Given the description of an element on the screen output the (x, y) to click on. 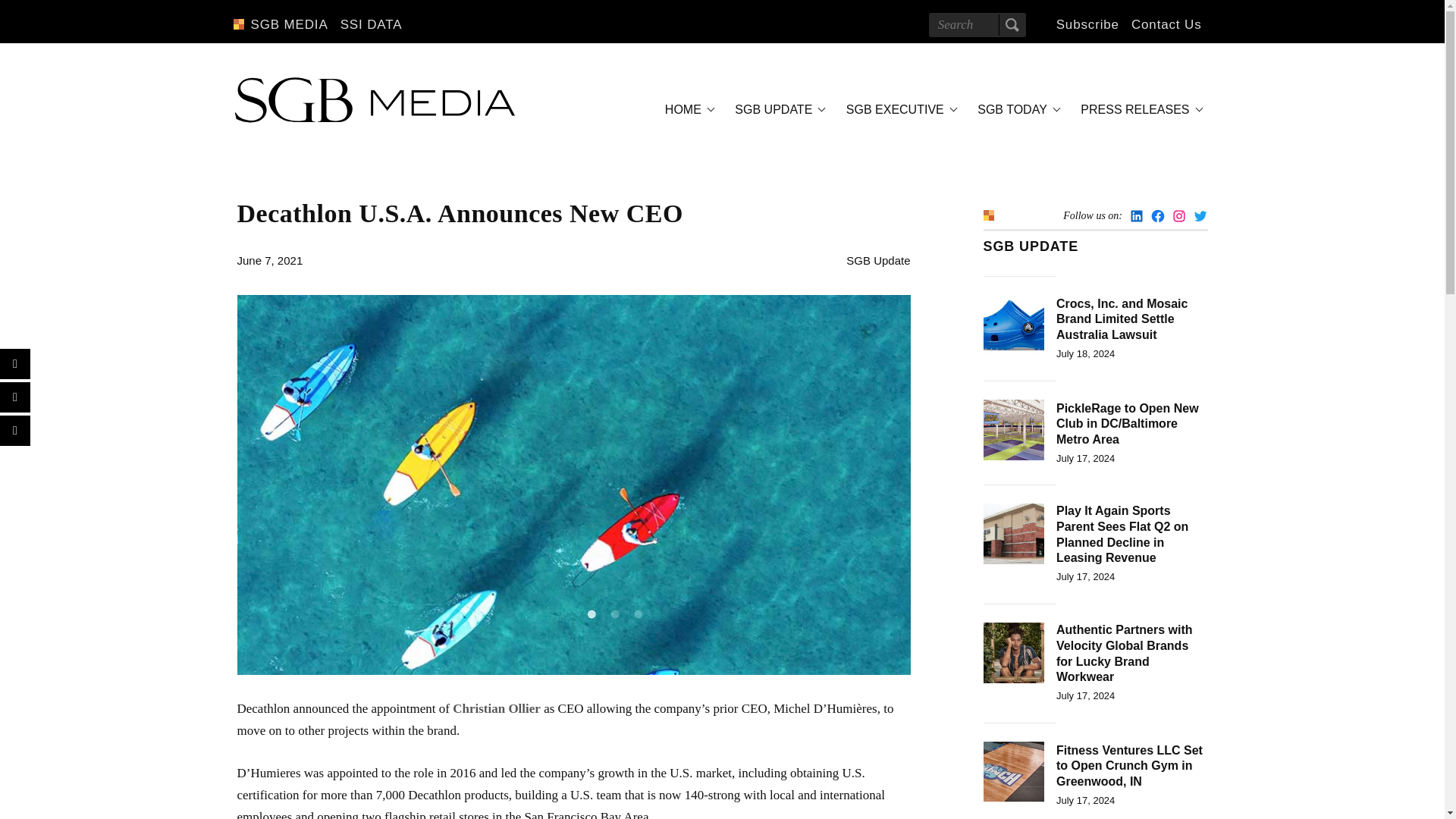
Contact Us (1166, 24)
Subscribe (1087, 24)
SGB Update (877, 259)
SGB EXECUTIVE (899, 109)
HOME (687, 109)
PRESS RELEASES (1139, 109)
SGB TODAY (1016, 109)
SGB MEDIA (288, 24)
SSI DATA (371, 24)
SGB UPDATE (777, 109)
Search for: (977, 24)
